Given the description of an element on the screen output the (x, y) to click on. 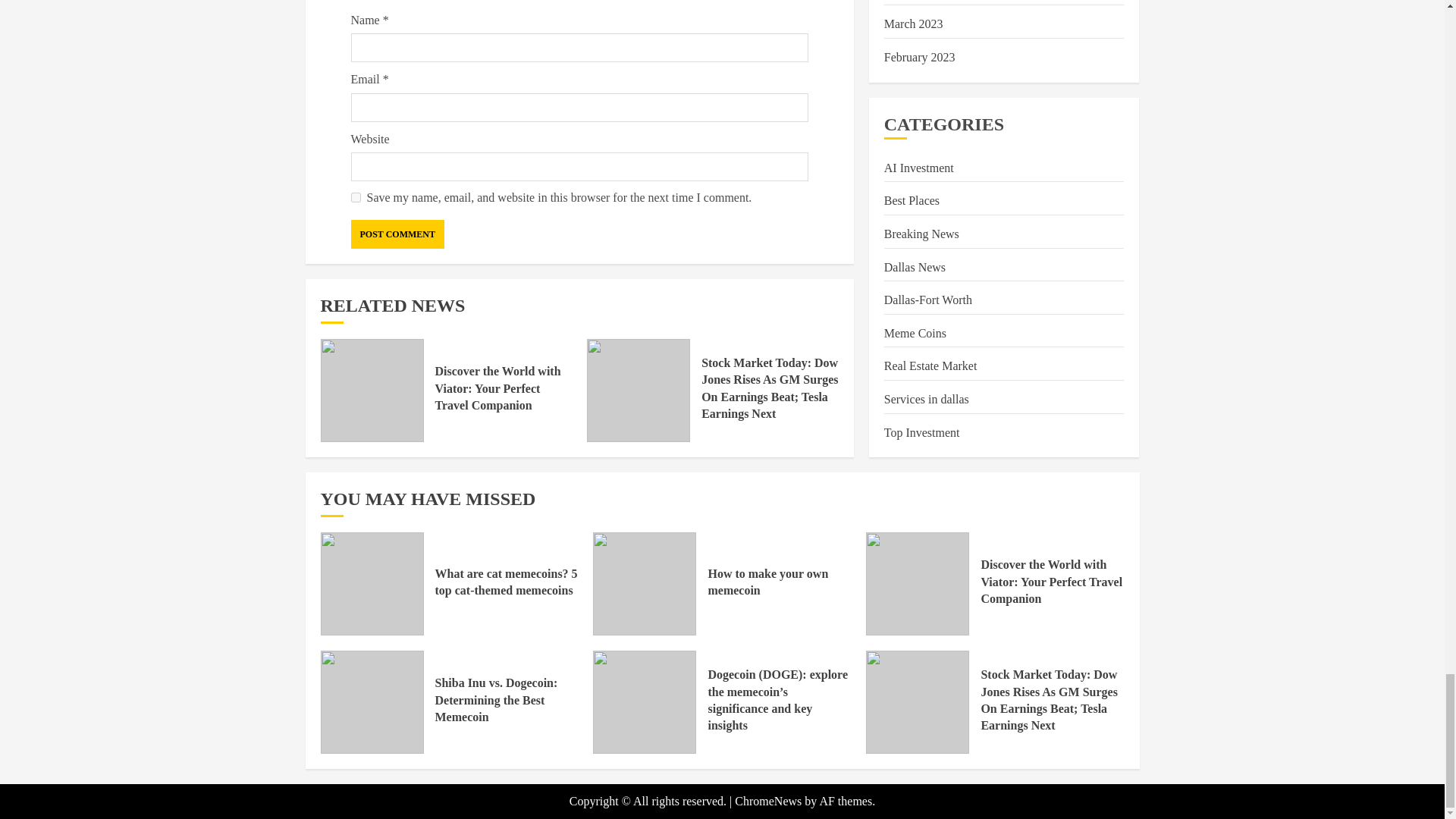
Post Comment (397, 234)
yes (354, 197)
Post Comment (397, 234)
